Given the description of an element on the screen output the (x, y) to click on. 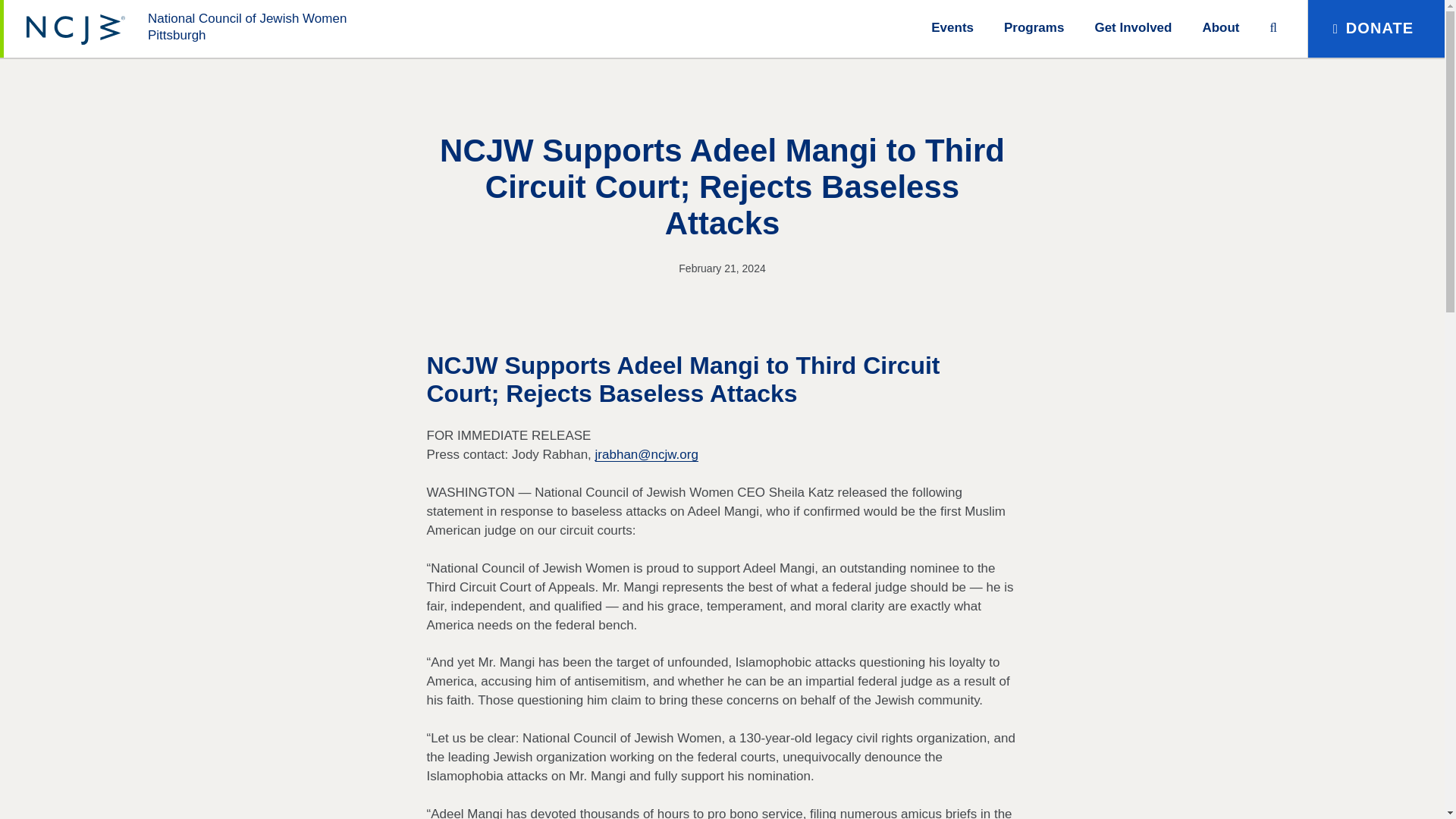
Events (952, 26)
Programs (1034, 26)
About (1220, 26)
Get Involved (1133, 26)
